Given the description of an element on the screen output the (x, y) to click on. 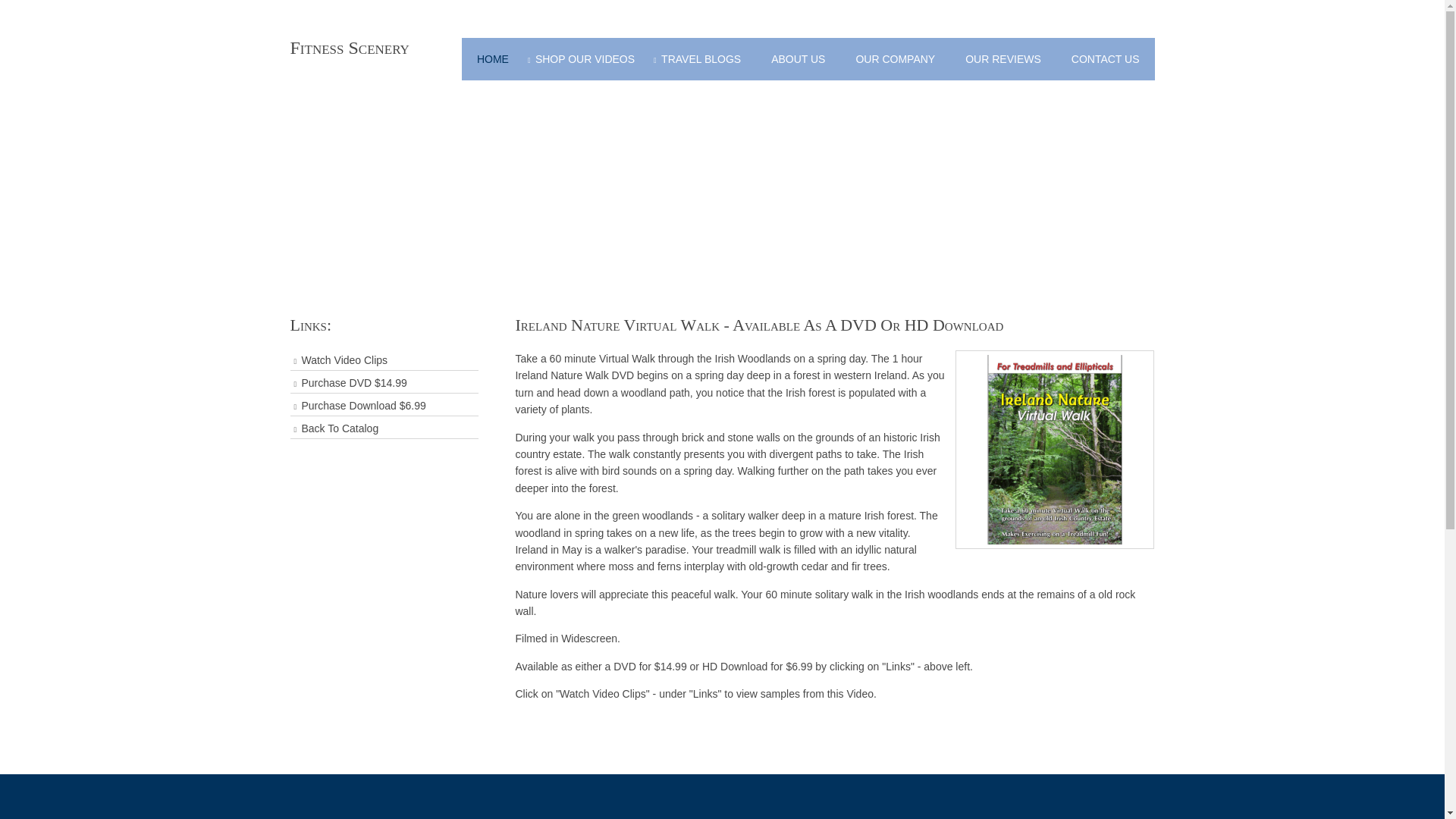
HOME (492, 58)
OUR REVIEWS (1003, 58)
SHOP OUR VIDEOS (586, 58)
TRAVEL BLOGS (702, 58)
Back To Catalog (384, 428)
ABOUT US (797, 58)
OUR COMPANY (895, 58)
Watch Video Clips (384, 360)
CONTACT US (1105, 58)
Fitness Scenery (349, 47)
